Given the description of an element on the screen output the (x, y) to click on. 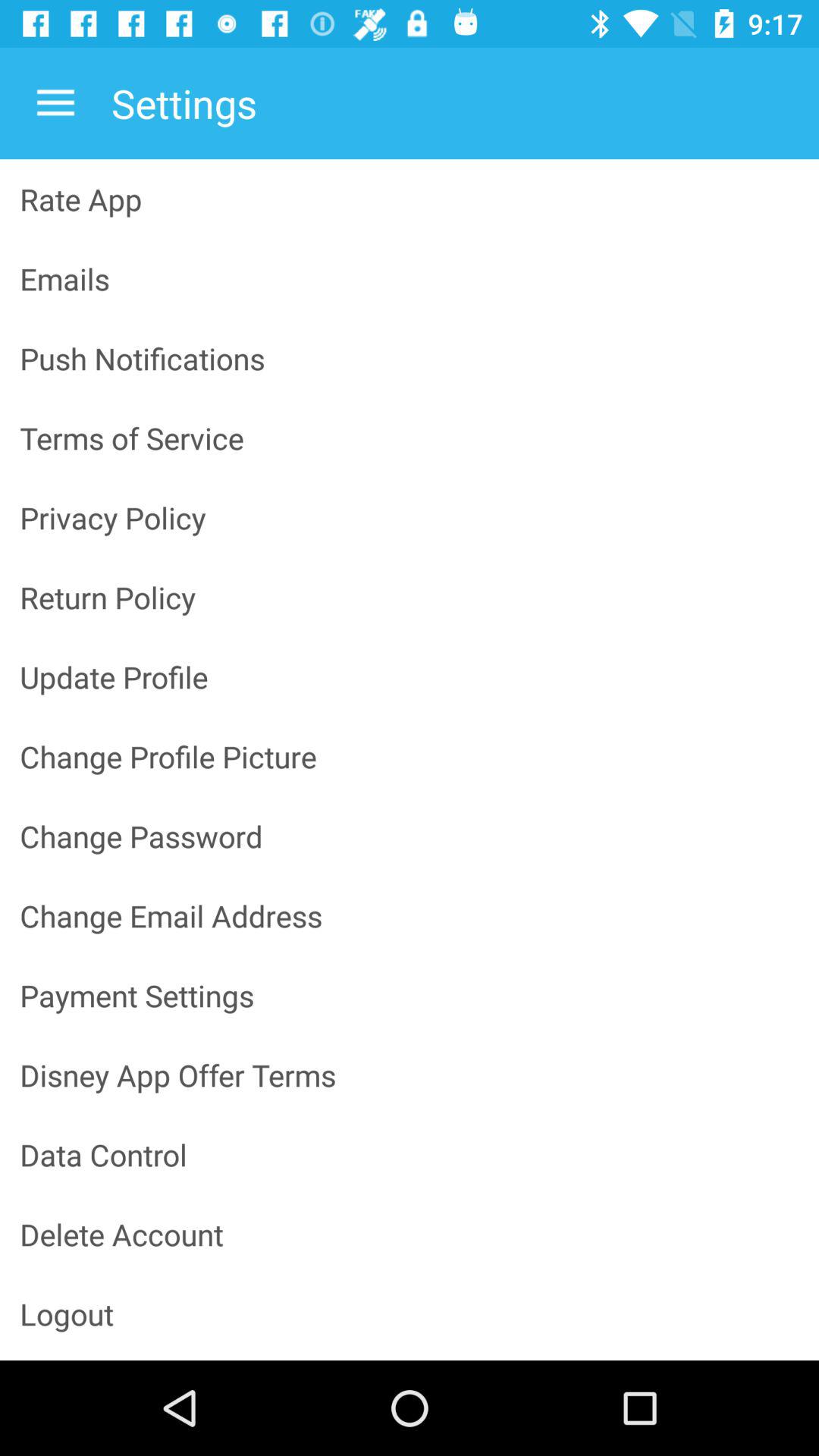
tap icon below change email address item (409, 995)
